Given the description of an element on the screen output the (x, y) to click on. 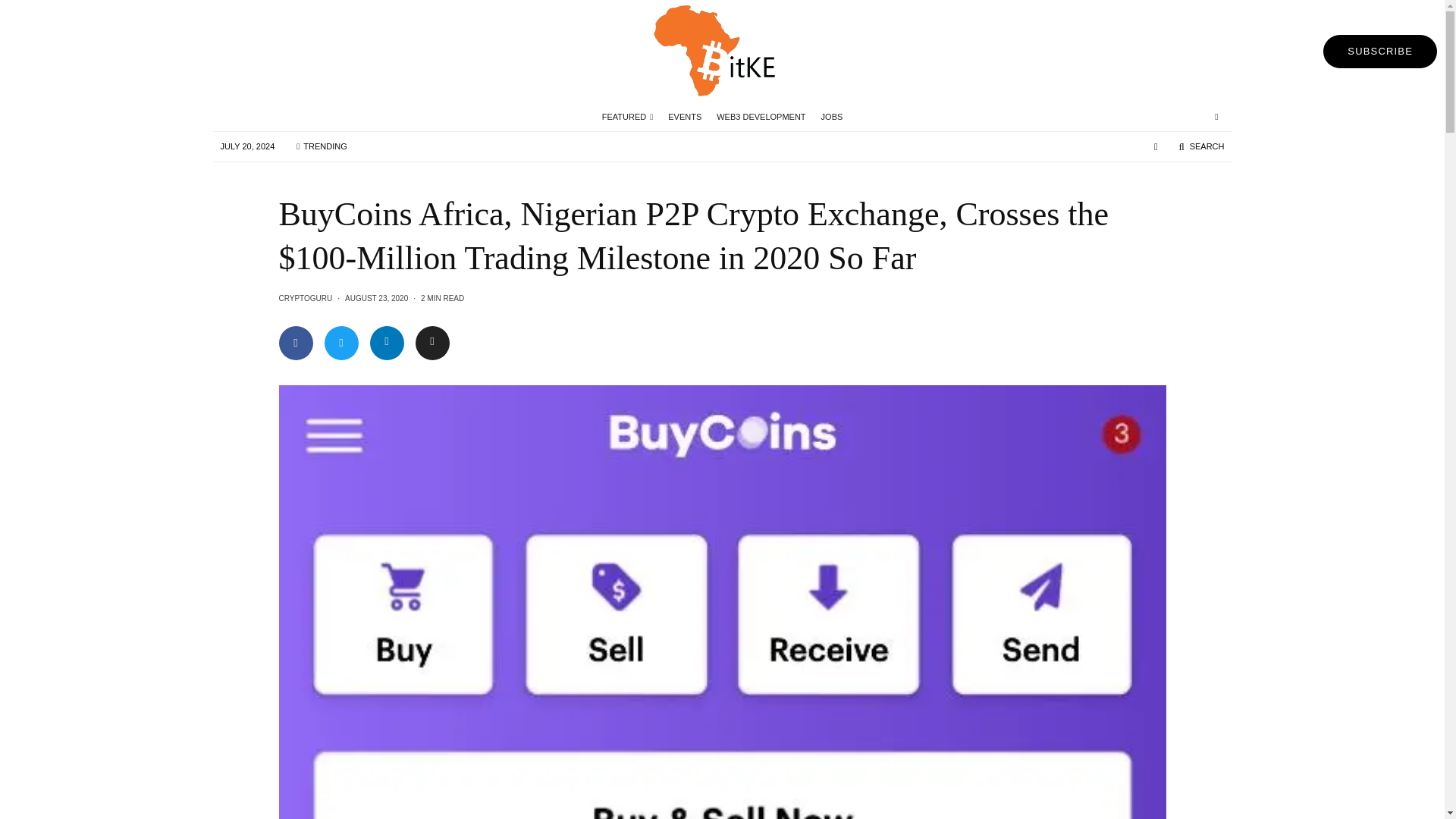
WEB3 DEVELOPMENT (760, 116)
SEARCH (1200, 146)
TRENDING (321, 145)
FEATURED (627, 116)
EVENTS (685, 116)
SUBSCRIBE (1380, 51)
CRYPTOGURU (306, 298)
JOBS (831, 116)
